Given the description of an element on the screen output the (x, y) to click on. 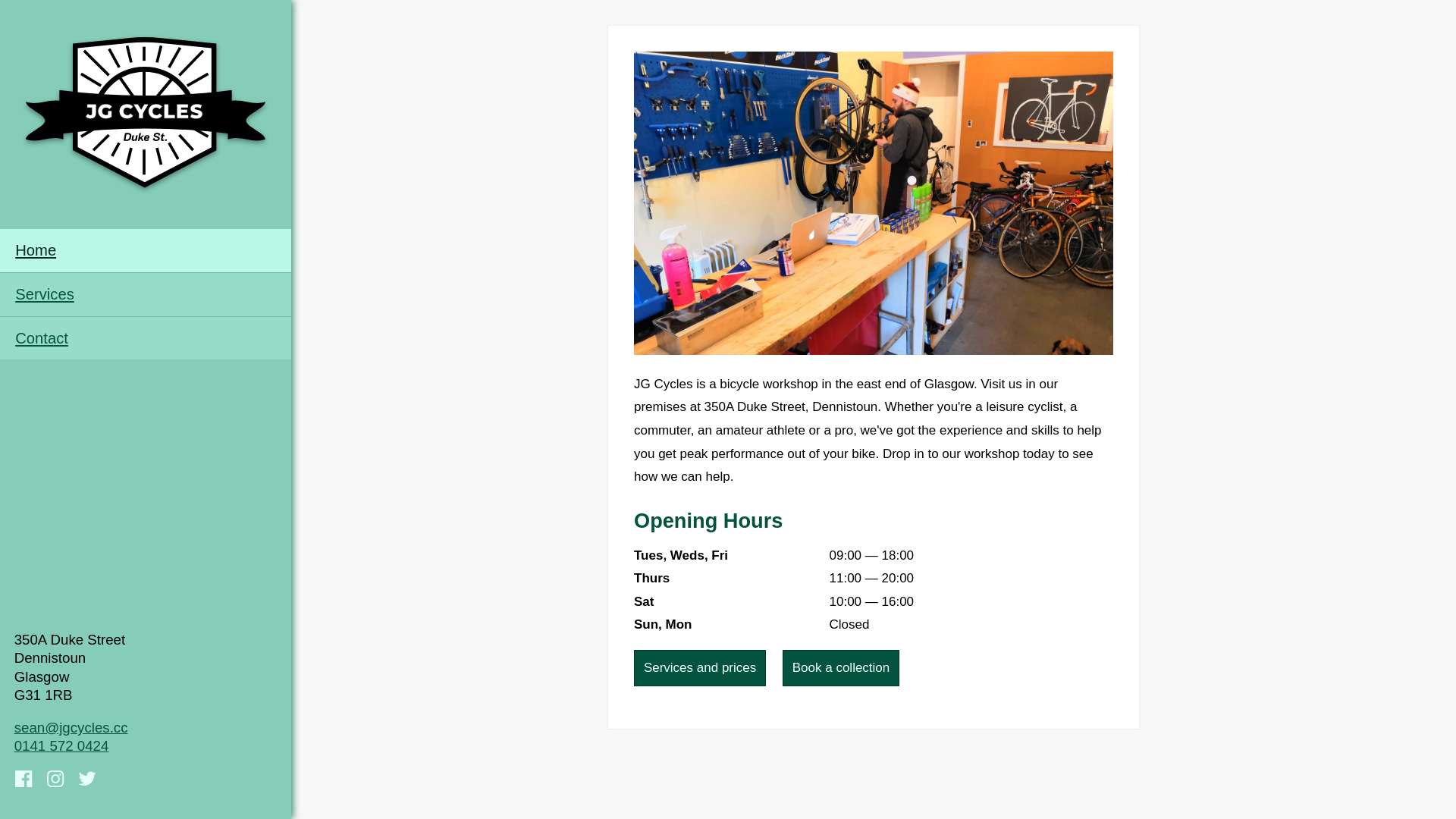
Services Element type: text (145, 294)
Home Element type: text (145, 250)
Services and prices Element type: text (699, 667)
0141 572 0424 Element type: text (61, 745)
Twitter Element type: text (87, 780)
Facebook Element type: text (25, 780)
sean@jgcycles.cc Element type: text (71, 727)
Book a collection Element type: text (840, 667)
Contact Element type: text (145, 338)
Instagram Element type: text (57, 780)
